Given the description of an element on the screen output the (x, y) to click on. 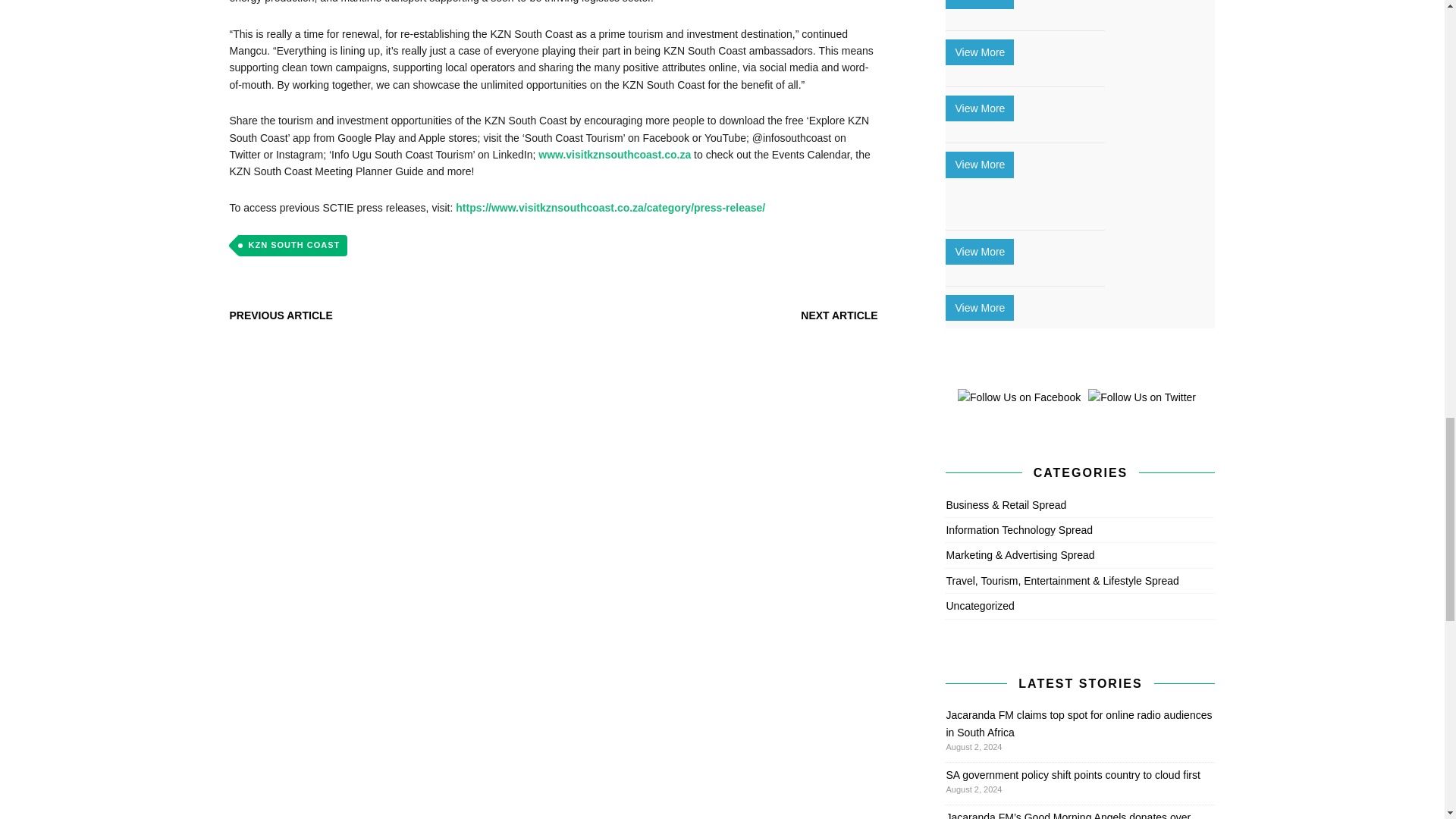
KZN SOUTH COAST (291, 245)
PREVIOUS ARTICLE (279, 315)
NEXT ARTICLE (838, 315)
www.visitkznsouthcoast.co.za (614, 154)
